Given the description of an element on the screen output the (x, y) to click on. 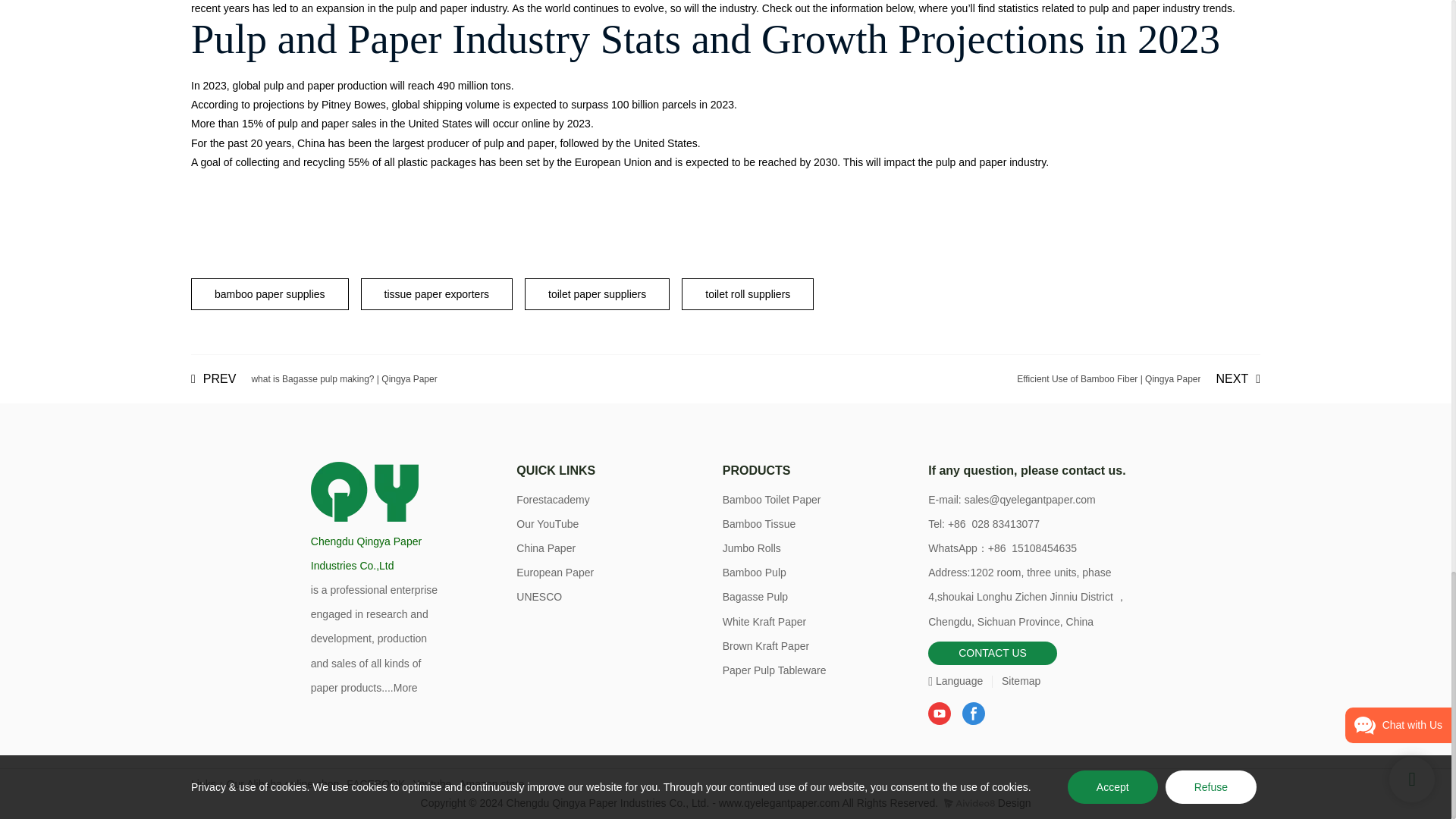
youtube (939, 712)
